Given the description of an element on the screen output the (x, y) to click on. 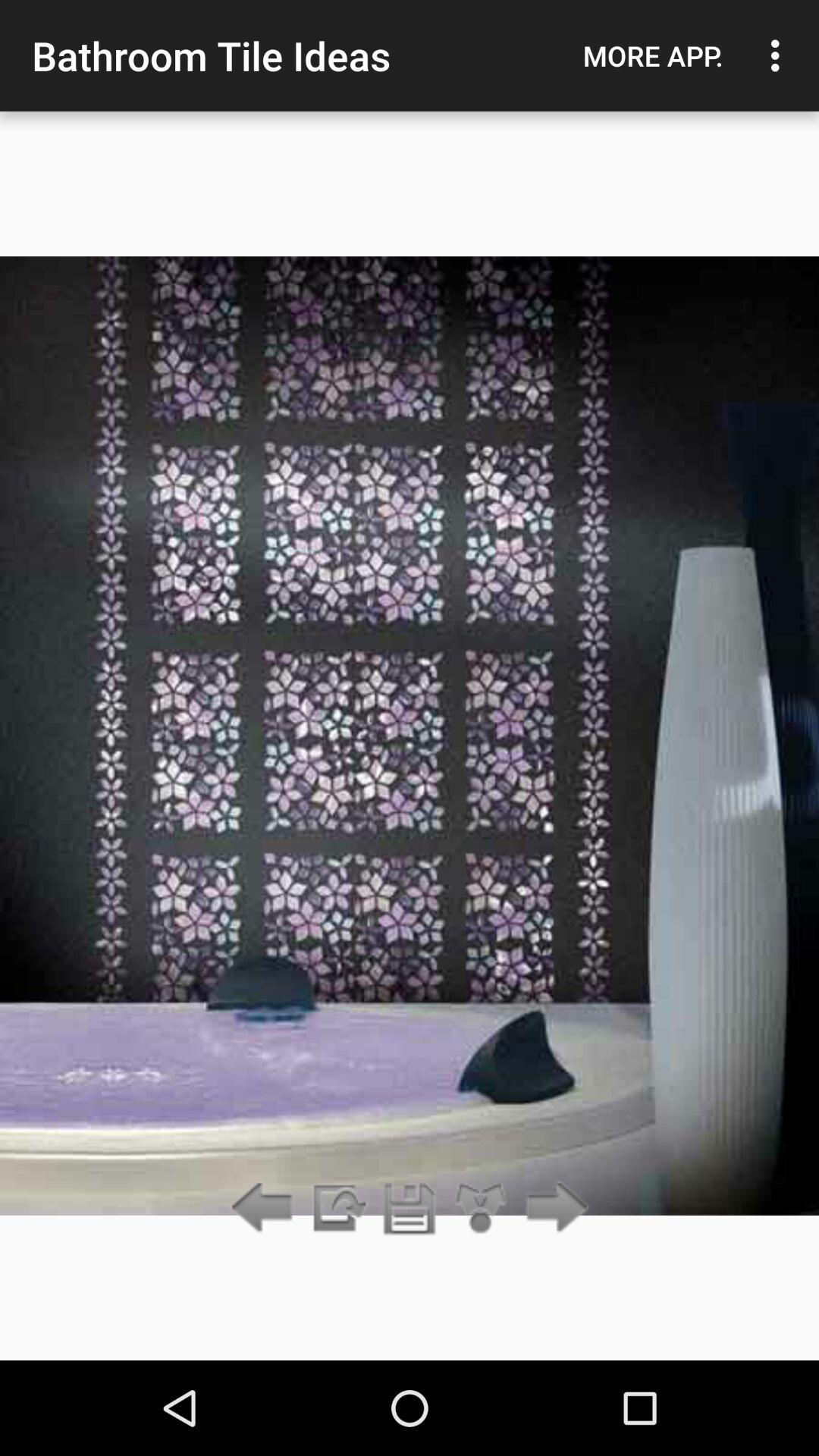
press the more app. item (653, 55)
